Given the description of an element on the screen output the (x, y) to click on. 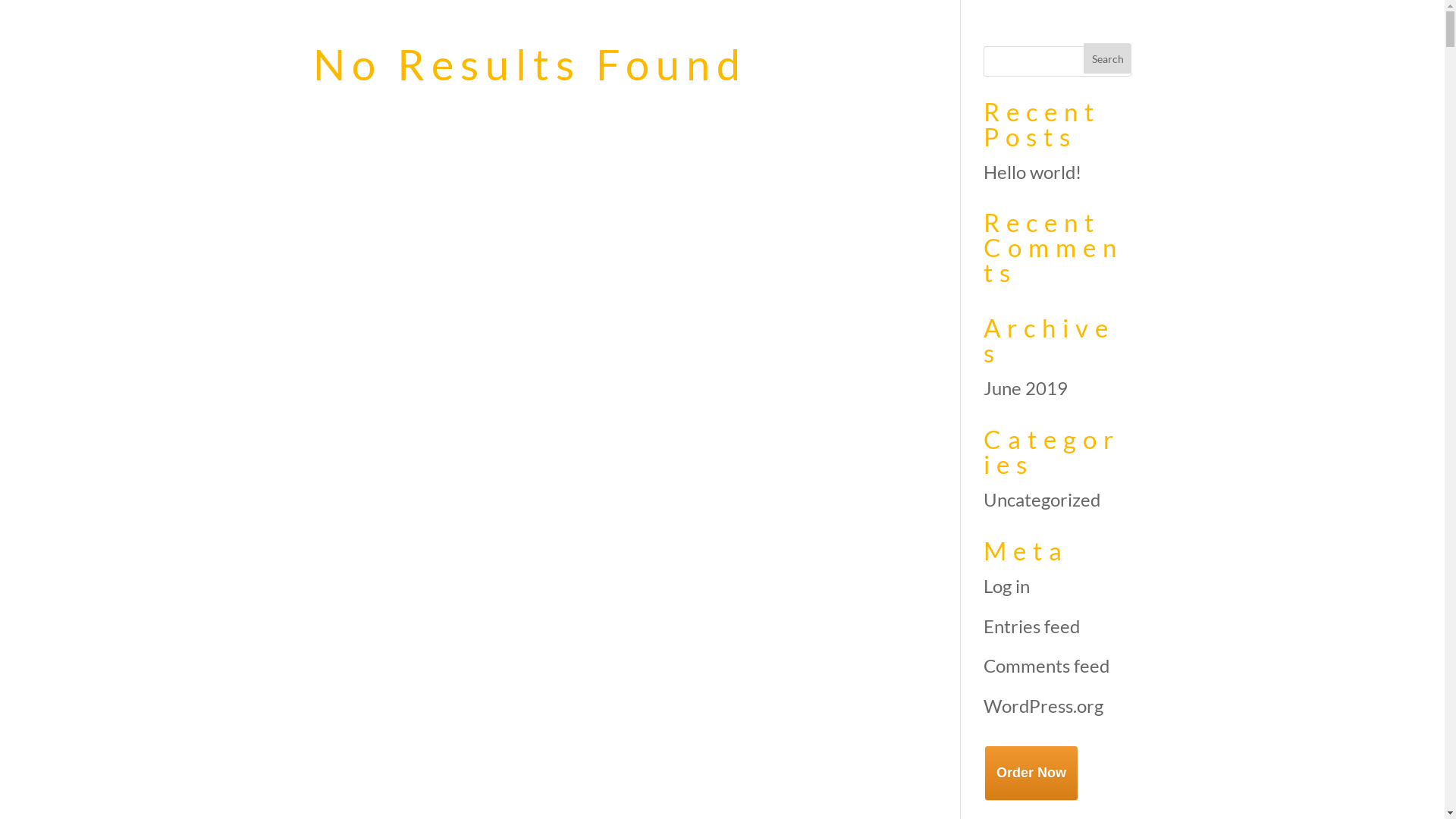
Uncategorized Element type: text (1041, 499)
WordPress.org Element type: text (1043, 705)
Search Element type: text (1107, 58)
Entries feed Element type: text (1031, 626)
Log in Element type: text (1006, 585)
June 2019 Element type: text (1025, 387)
Hello world! Element type: text (1032, 171)
Comments feed Element type: text (1046, 665)
